Given the description of an element on the screen output the (x, y) to click on. 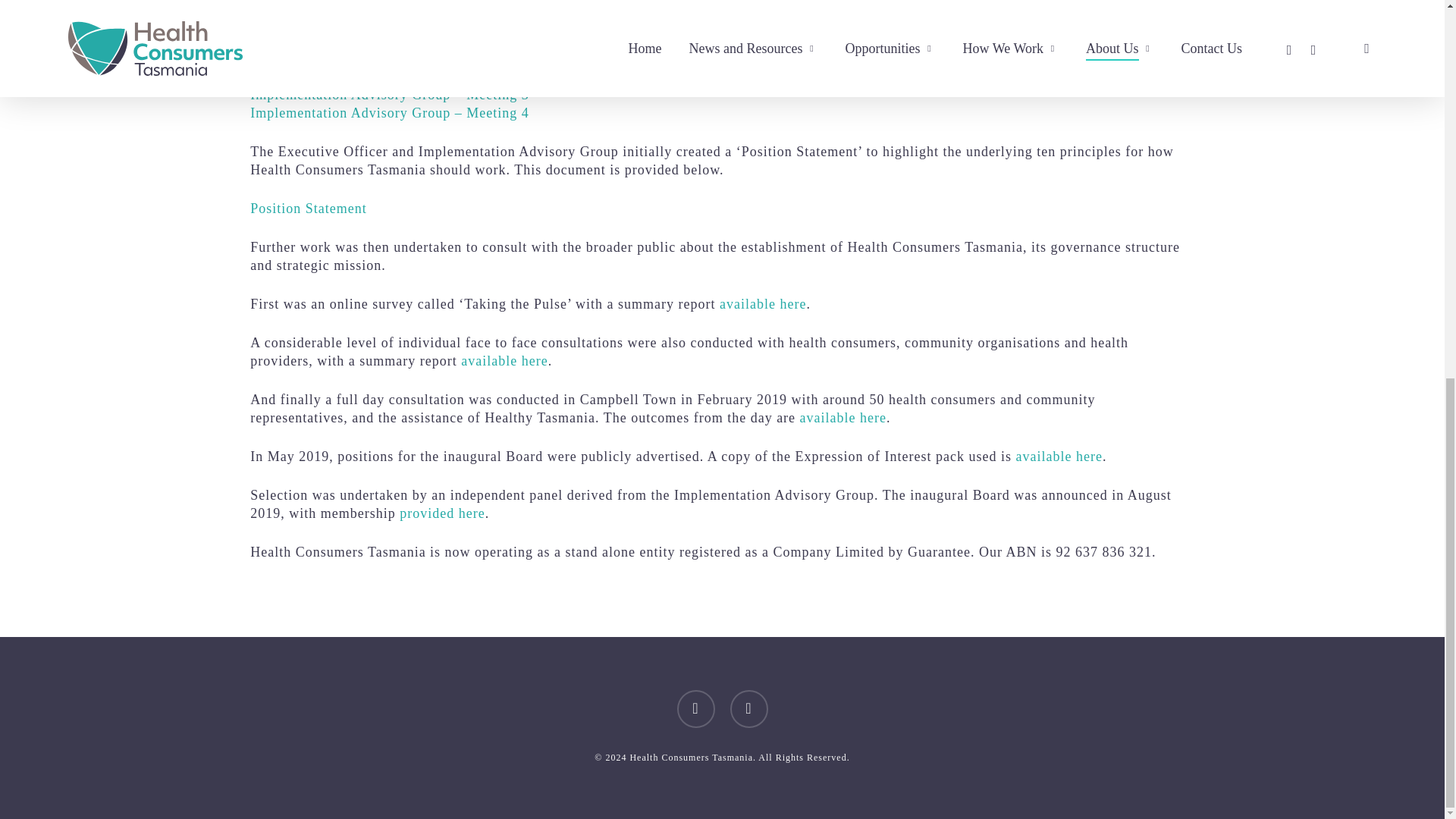
Position Statement (308, 208)
youtube (748, 709)
available here (504, 360)
available here (1059, 456)
available here (762, 304)
facebook (695, 709)
provided here (441, 513)
available here (842, 417)
